Given the description of an element on the screen output the (x, y) to click on. 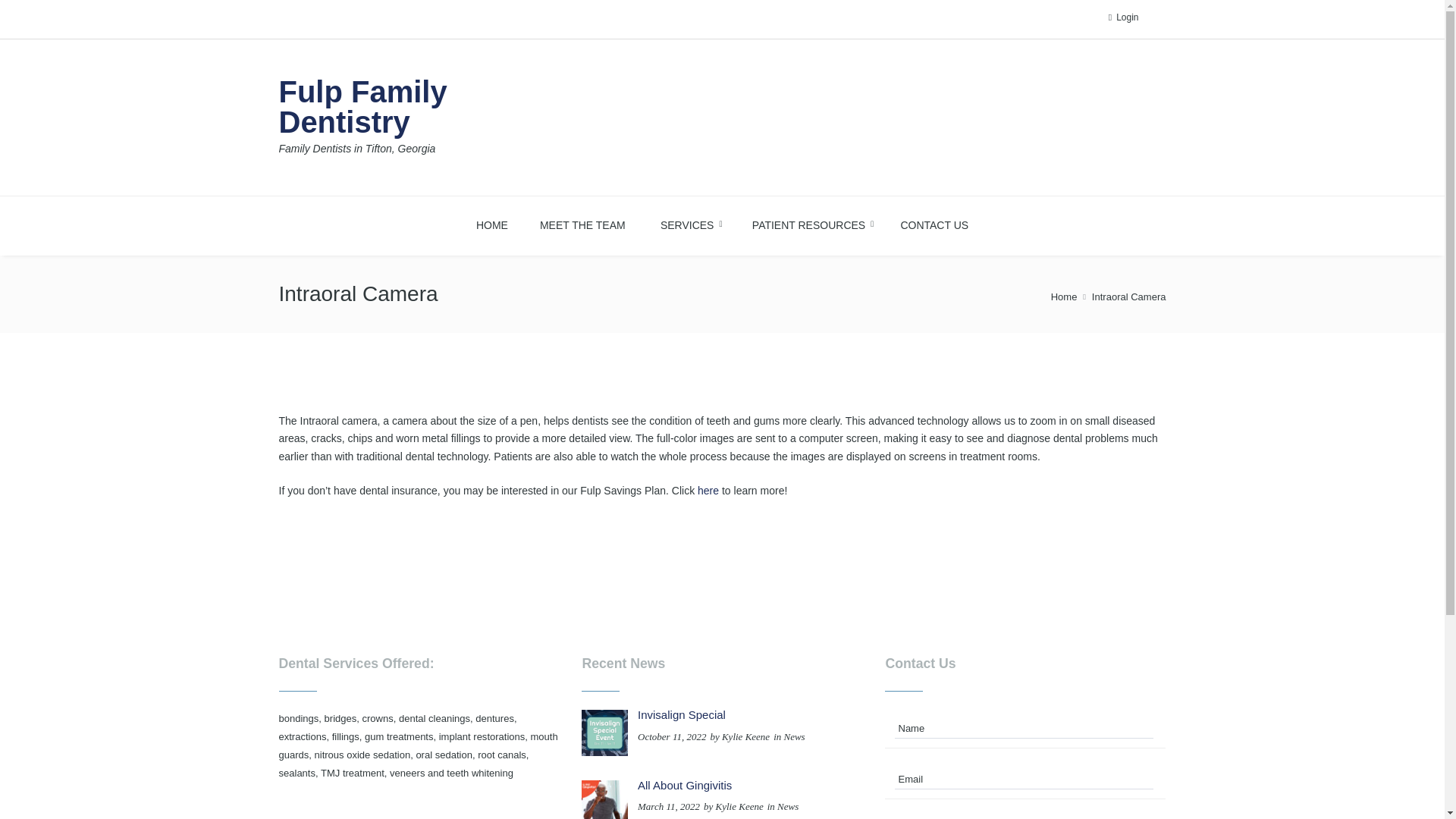
HOME (492, 222)
MEET THE TEAM (583, 222)
Home (419, 117)
PATIENT RESOURCES (1064, 296)
SERVICES (809, 222)
CONTACT US (687, 222)
here (933, 222)
